Given the description of an element on the screen output the (x, y) to click on. 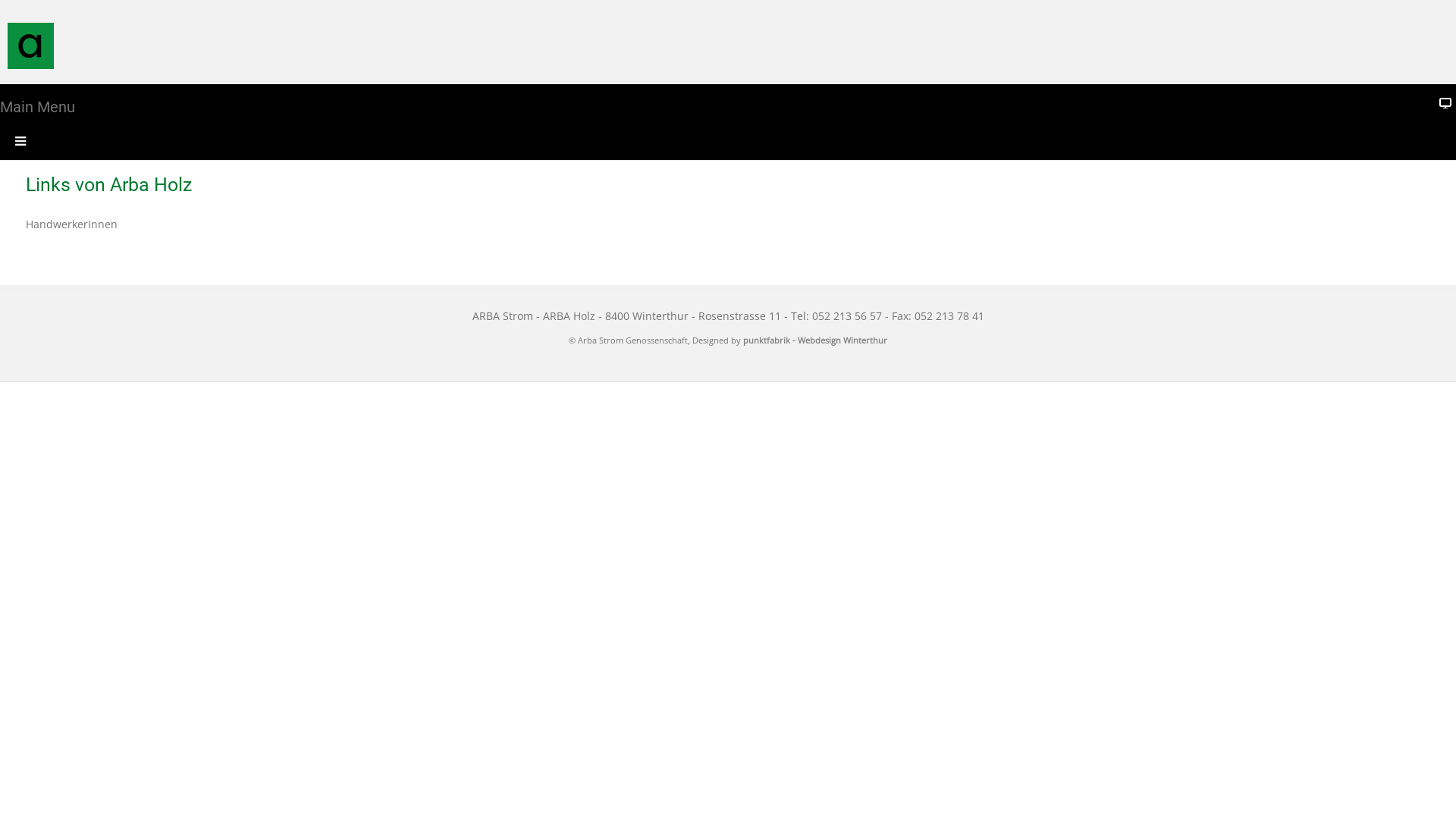
punktfabrik - Webdesign Winterthur Element type: text (815, 340)
